Given the description of an element on the screen output the (x, y) to click on. 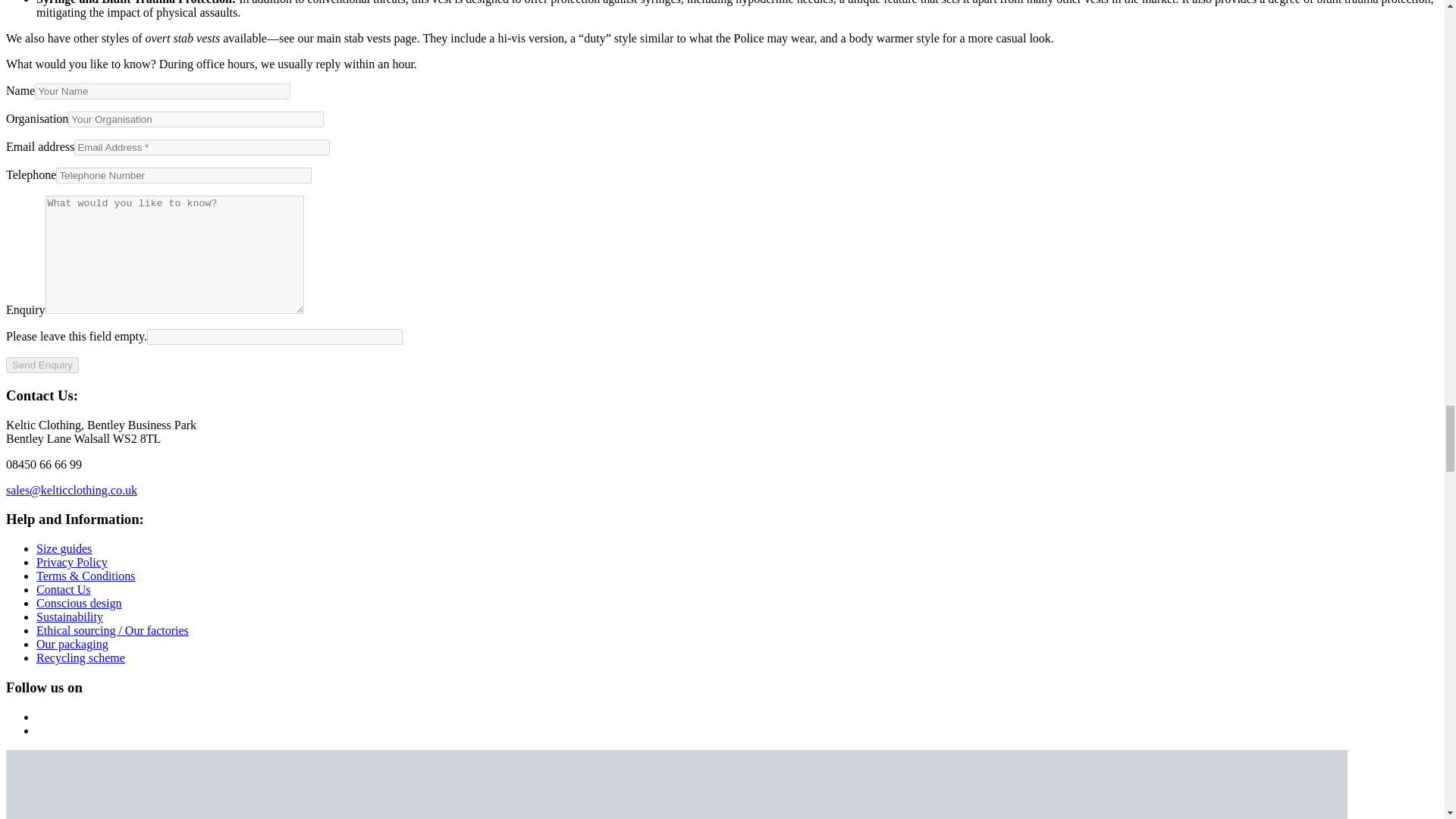
Send Enquiry (41, 365)
